Given the description of an element on the screen output the (x, y) to click on. 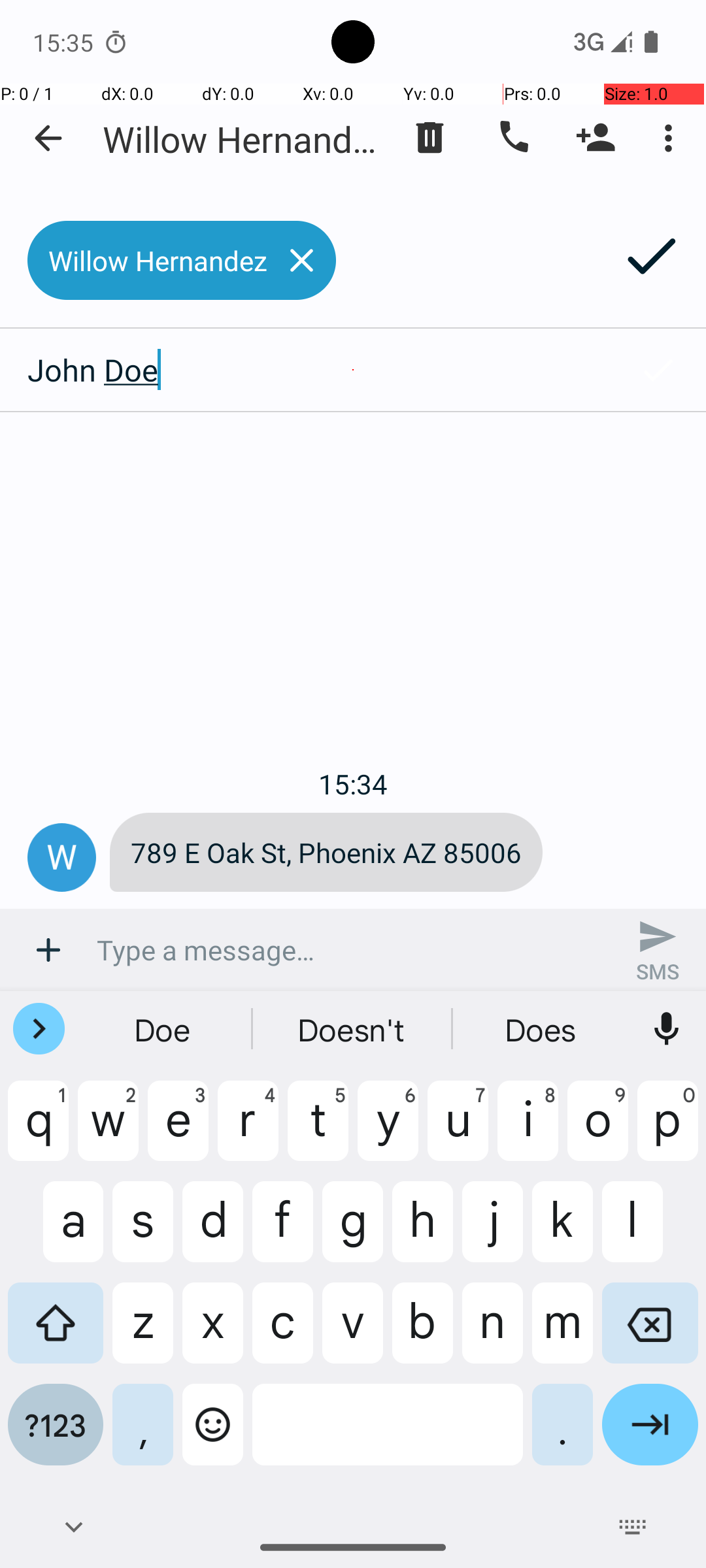
Willow Hernandez Element type: android.widget.TextView (241, 138)
John Doe Element type: android.widget.AutoCompleteTextView (304, 369)
Confirm selection Element type: android.widget.ImageView (657, 369)
789 E Oak St, Phoenix AZ 85006 Element type: android.widget.TextView (325, 851)
Do Element type: android.widget.FrameLayout (163, 1028)
So Element type: android.widget.FrameLayout (352, 1028)
Don't Element type: android.widget.FrameLayout (541, 1028)
